Given the description of an element on the screen output the (x, y) to click on. 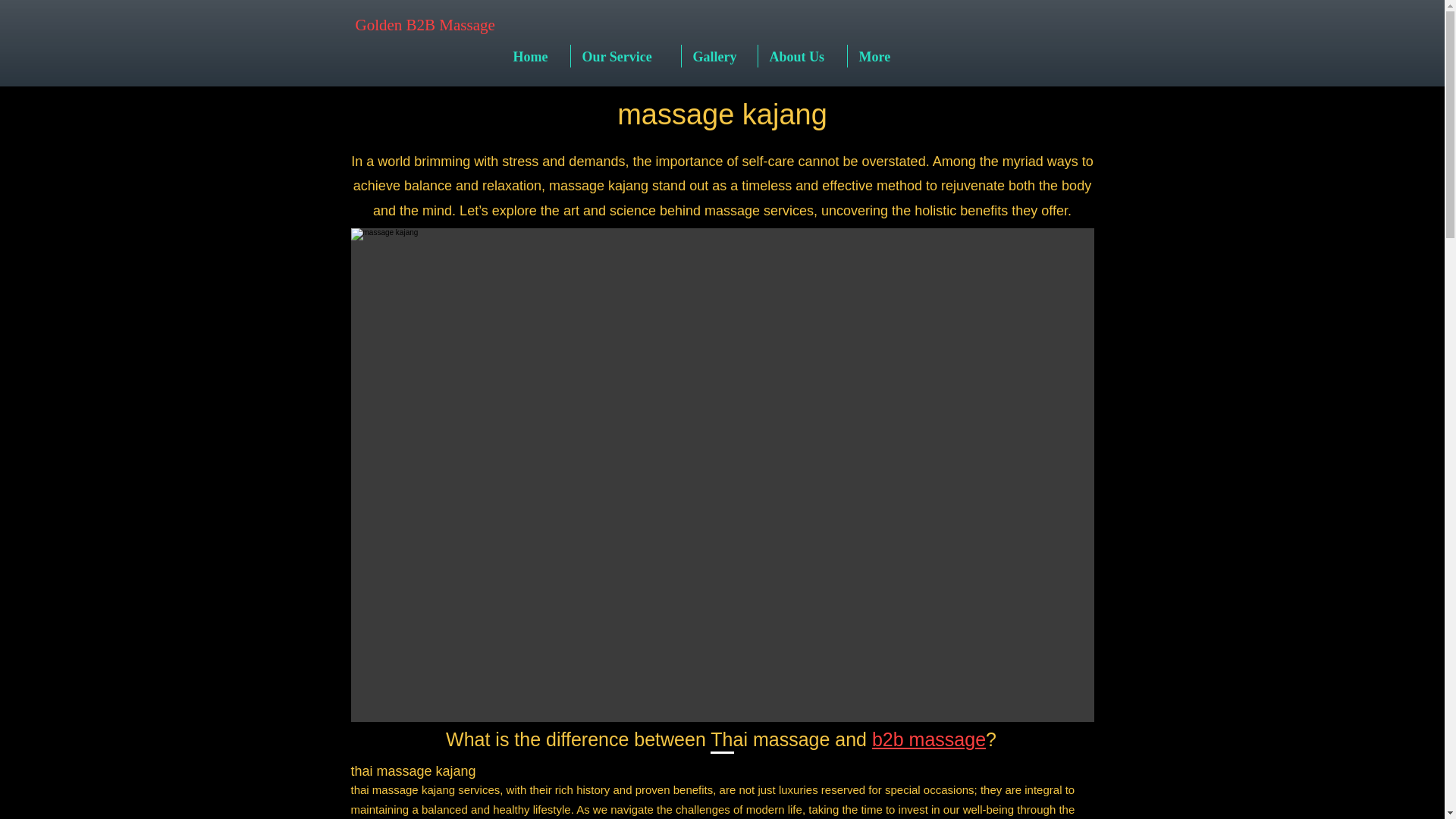
Gallery (719, 56)
About Us (802, 56)
Our Service (624, 56)
Home (536, 56)
